Given the description of an element on the screen output the (x, y) to click on. 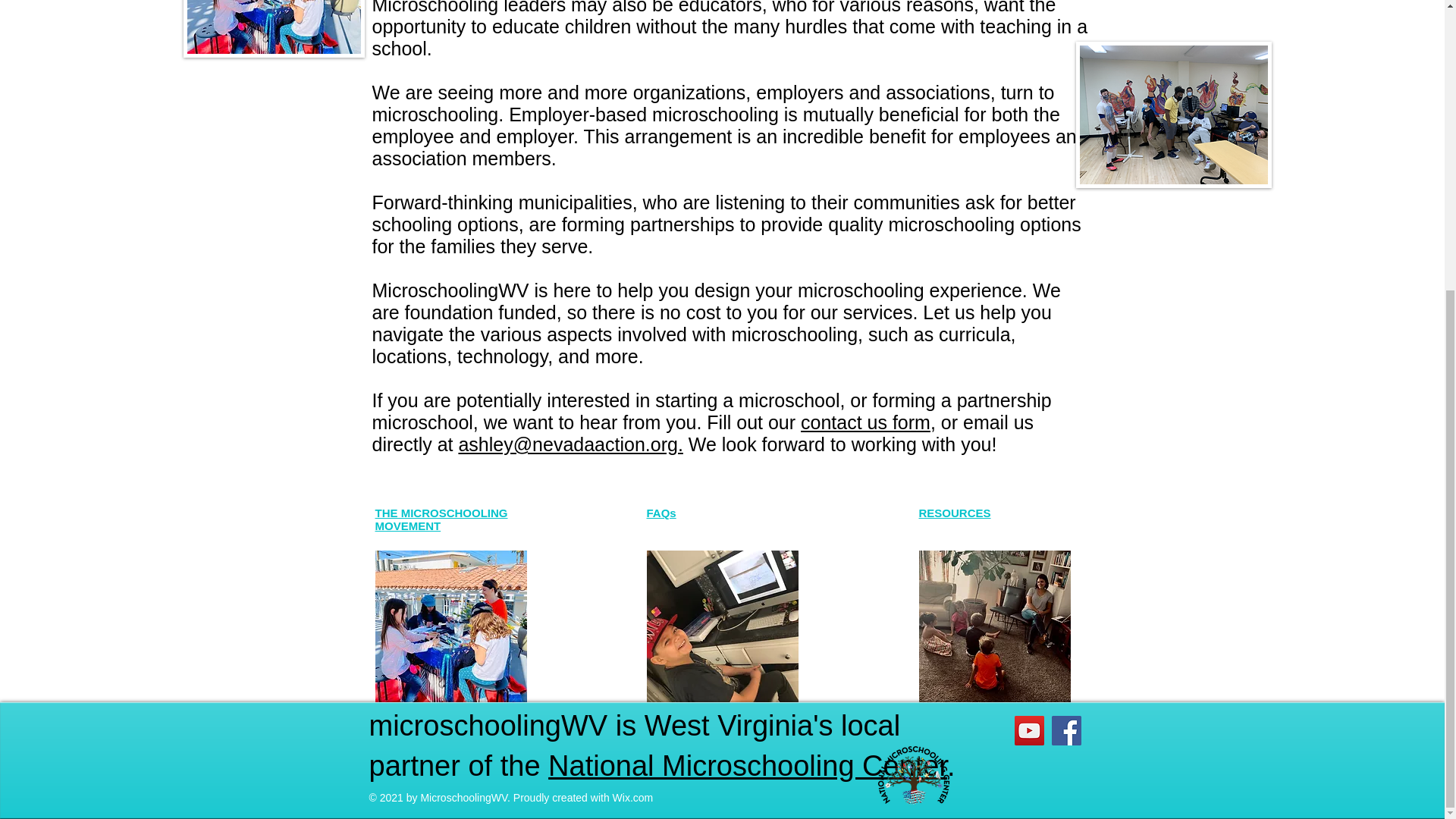
contact us form (865, 422)
THE MICROSCHOOLING MOVEMENT (440, 519)
FAQs (660, 512)
RESOURCES (954, 512)
Wix.com (632, 797)
National Microschooling Center (747, 766)
